Given the description of an element on the screen output the (x, y) to click on. 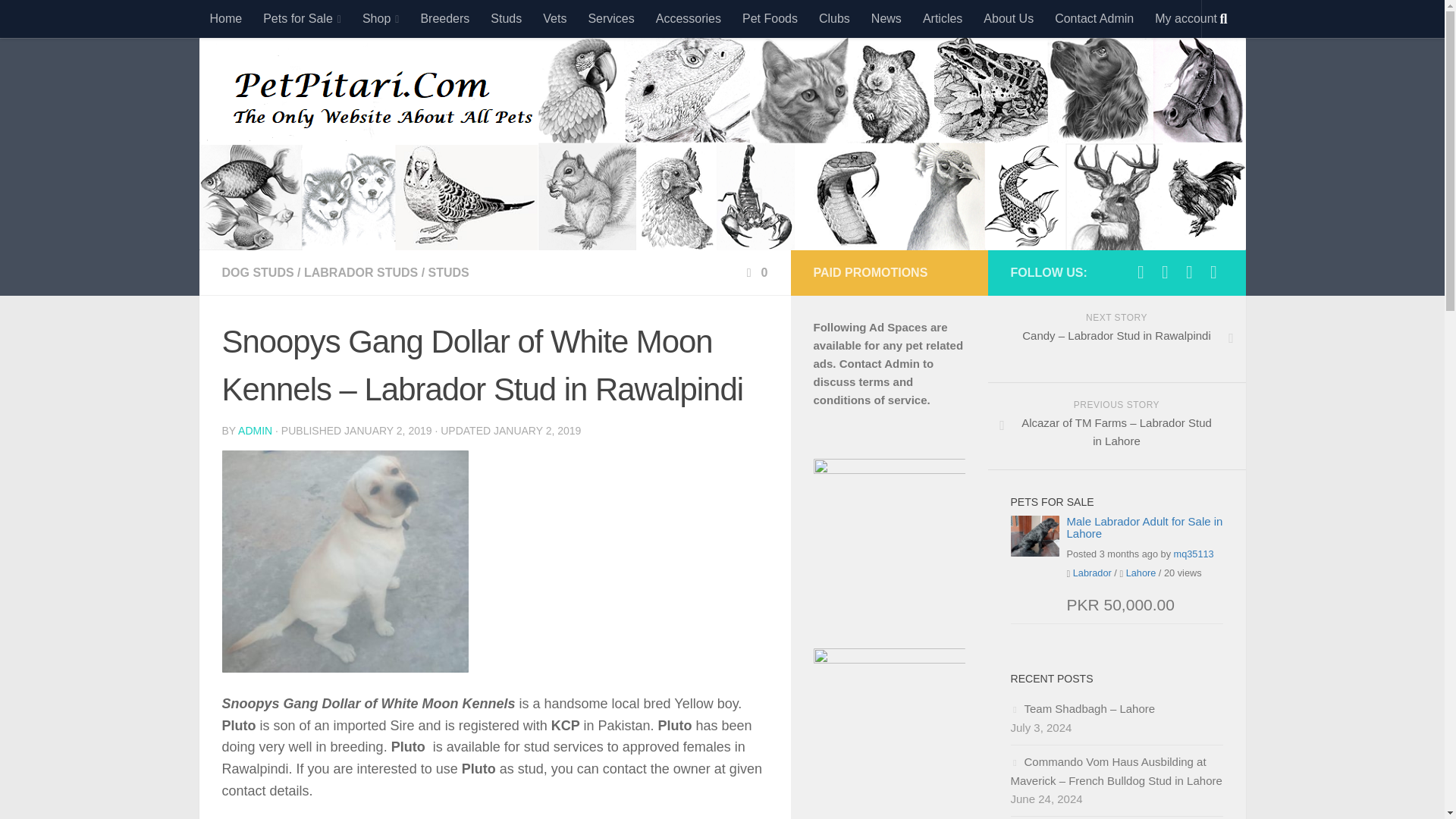
About Us (1007, 18)
News (886, 18)
Vets (554, 18)
Follow us on Twitter (1164, 271)
Breeders (444, 18)
Shop (381, 18)
Clubs (834, 18)
Services (610, 18)
Articles (942, 18)
Pets for Sale (301, 18)
